Given the description of an element on the screen output the (x, y) to click on. 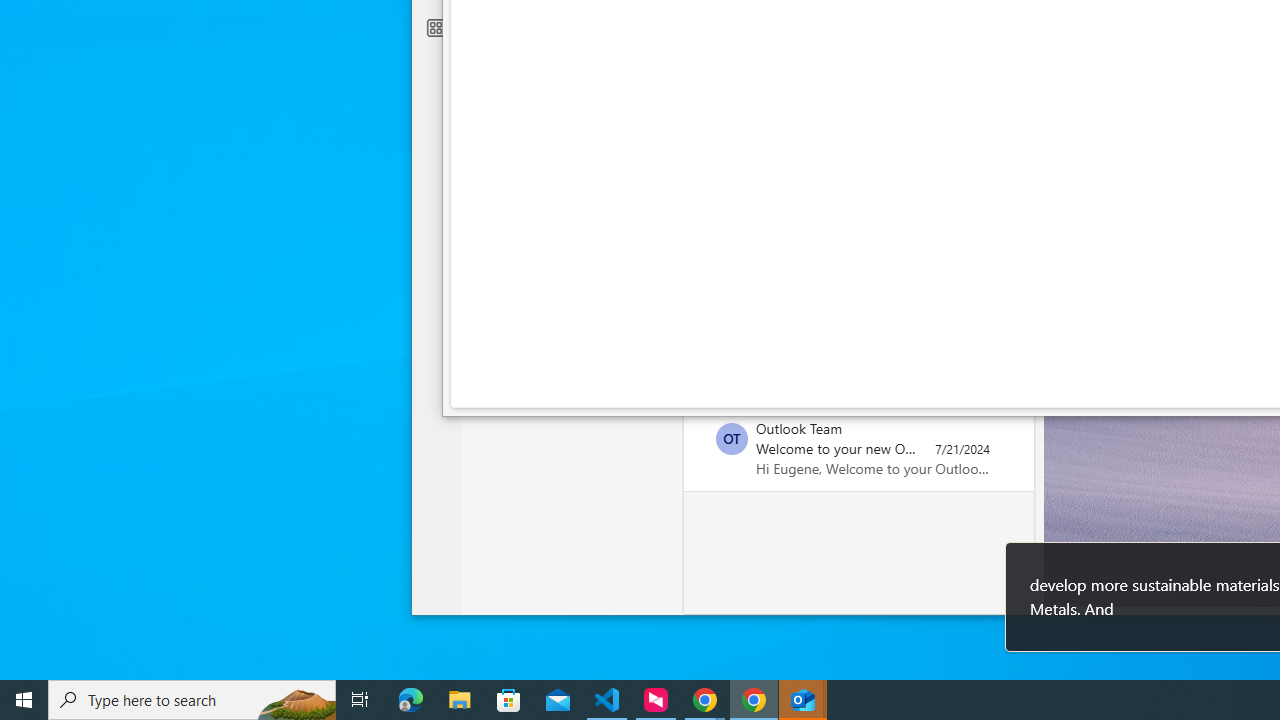
Microsoft Store (509, 699)
Search highlights icon opens search home window (295, 699)
File Explorer (460, 699)
Type here to search (191, 699)
Start (24, 699)
Google Chrome - 3 running windows (704, 699)
Task View (359, 699)
Microsoft Edge (411, 699)
Visual Studio Code - 1 running window (607, 699)
Outlook (new) - 2 running windows (803, 699)
Google Chrome - 1 running window (754, 699)
